Given the description of an element on the screen output the (x, y) to click on. 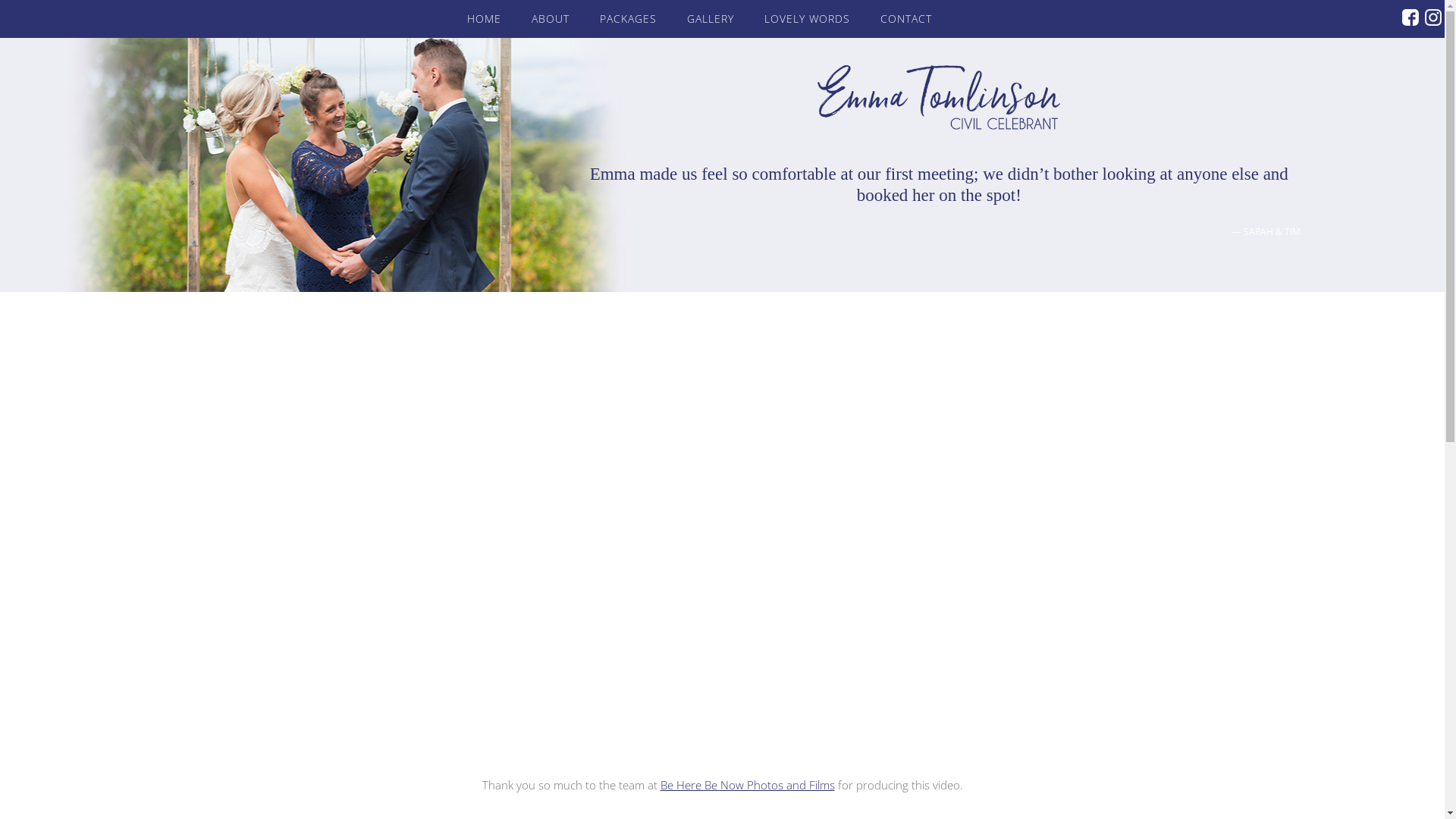
HOME Element type: text (483, 18)
ABOUT Element type: text (550, 18)
Be Here Be Now Photos and Films Element type: text (746, 784)
CONTACT Element type: text (906, 18)
PACKAGES Element type: text (627, 18)
GALLERY Element type: text (710, 18)
FACEBOOK Element type: text (1410, 17)
LOVELY WORDS Element type: text (807, 18)
INSTAGRAM Element type: text (1432, 17)
